Given the description of an element on the screen output the (x, y) to click on. 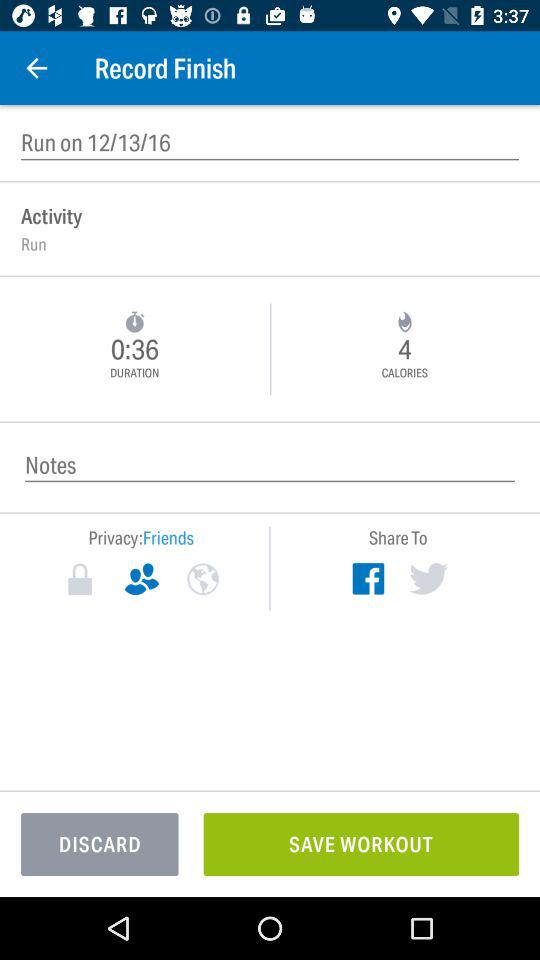
etc (202, 579)
